Given the description of an element on the screen output the (x, y) to click on. 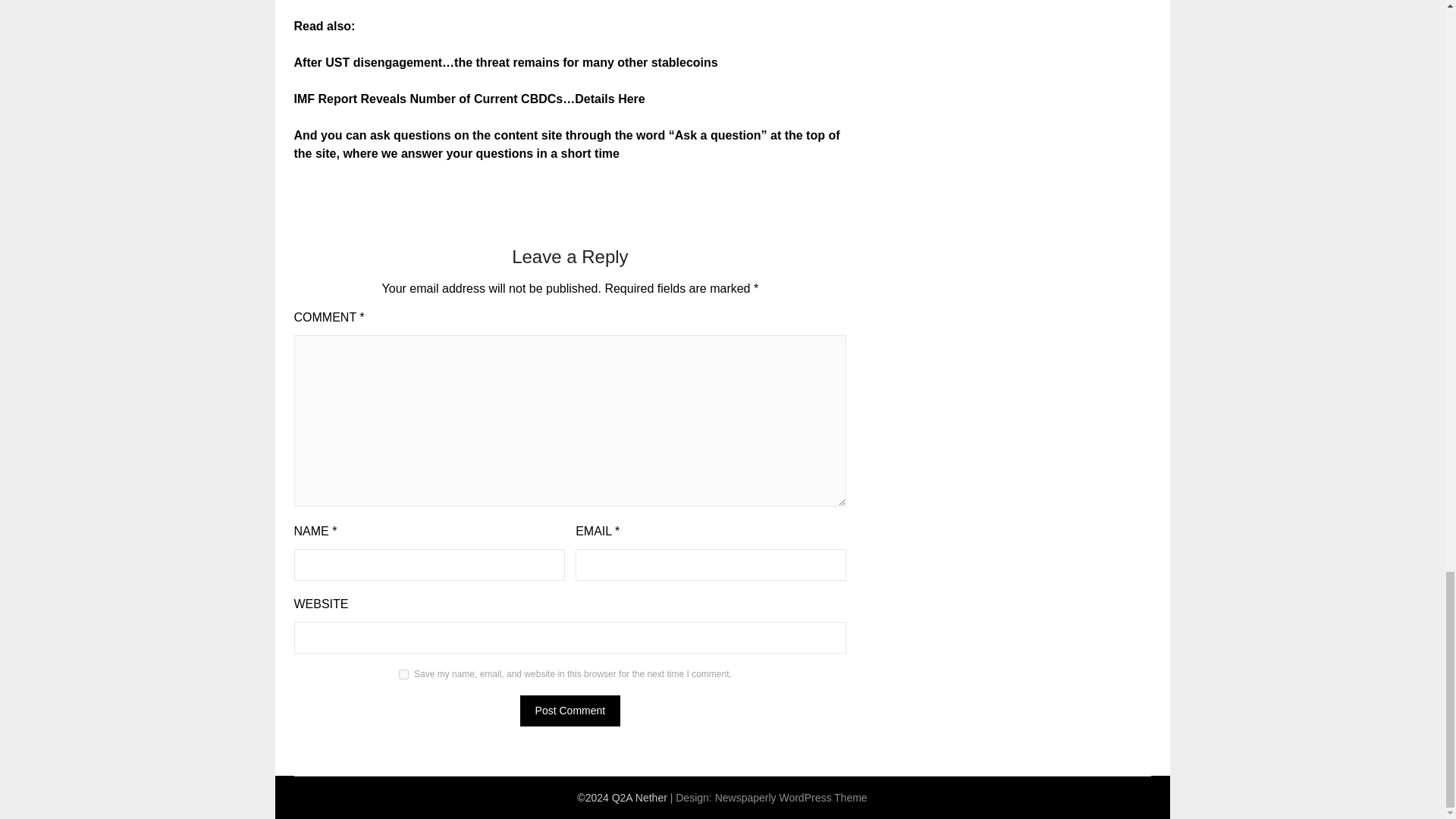
Post Comment (570, 710)
Newspaperly WordPress Theme (790, 797)
Post Comment (570, 710)
yes (403, 674)
